Given the description of an element on the screen output the (x, y) to click on. 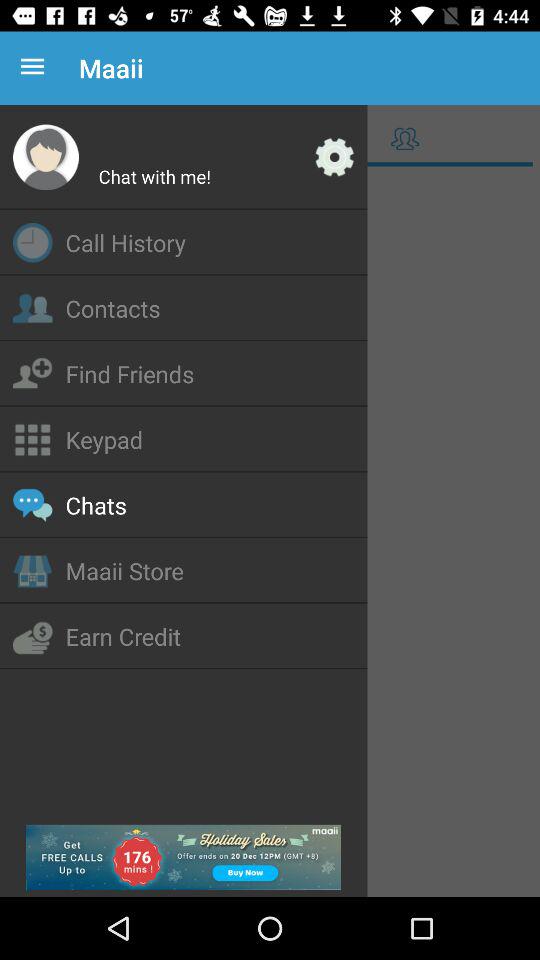
open settings section (334, 157)
